Given the description of an element on the screen output the (x, y) to click on. 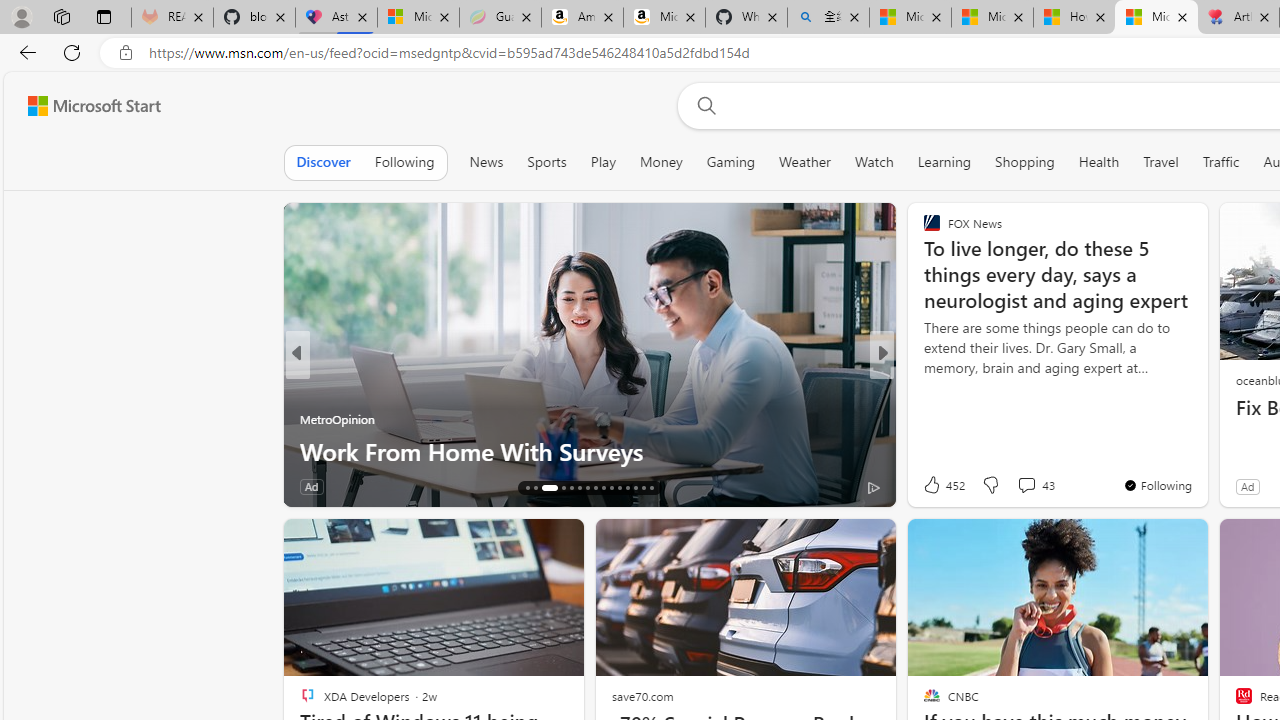
Nordace (938, 418)
Money (661, 162)
20 Like (934, 486)
Shopping (1025, 162)
Health (1098, 162)
Ad (1247, 486)
Start the conversation (1014, 485)
Gaming (730, 162)
CNET (923, 386)
AutomationID: tab-23 (595, 487)
AutomationID: tab-29 (642, 487)
